Given the description of an element on the screen output the (x, y) to click on. 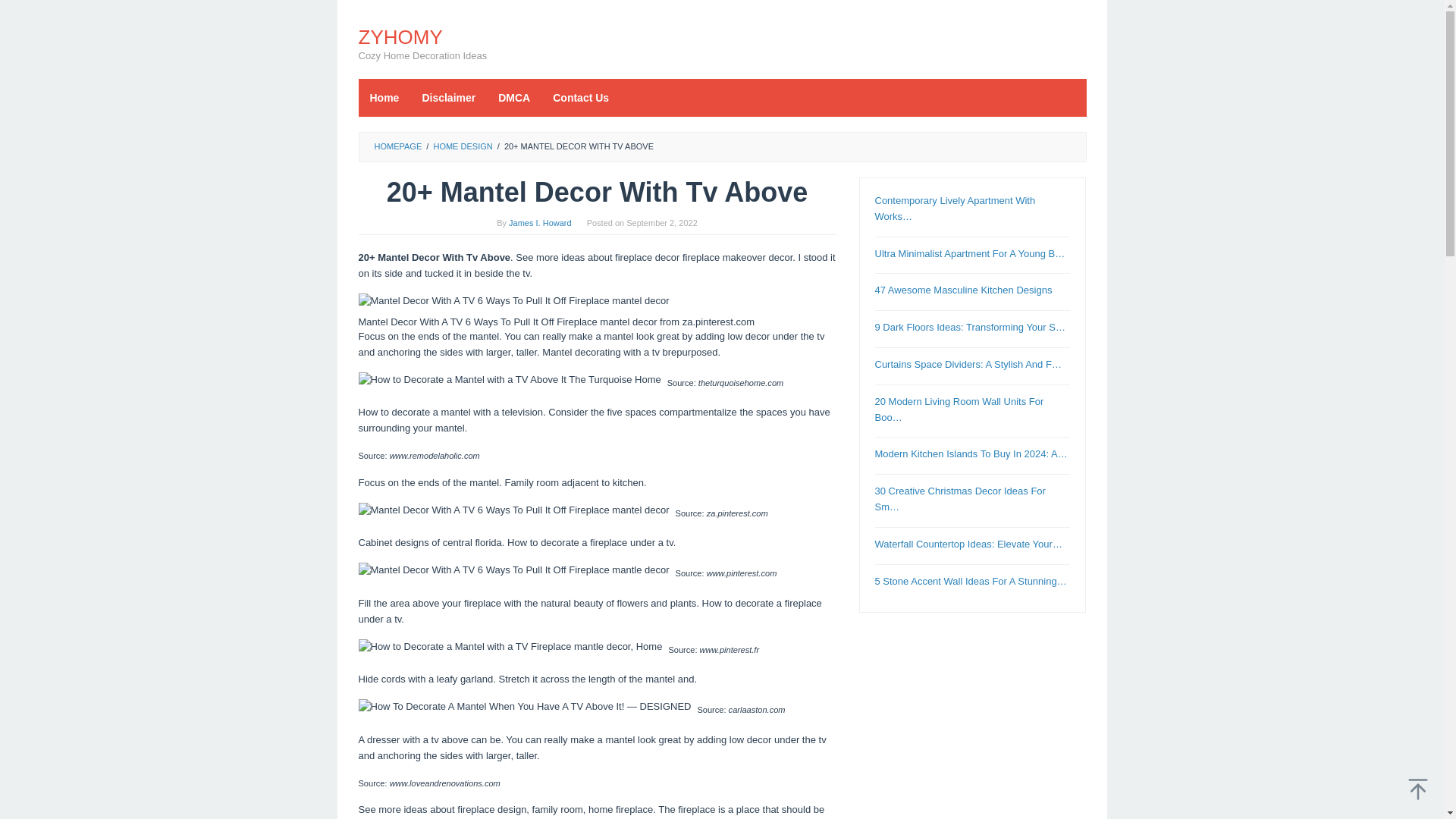
James I. Howard (540, 222)
DMCA (513, 97)
Contact Us (580, 97)
47 Awesome Masculine Kitchen Designs (963, 289)
ZYHOMY (400, 36)
HOME DESIGN (462, 145)
Home (384, 97)
Disclaimer (448, 97)
Permalink to: James I. Howard (540, 222)
HOMEPAGE (398, 145)
ZYHOMY (400, 36)
